Given the description of an element on the screen output the (x, y) to click on. 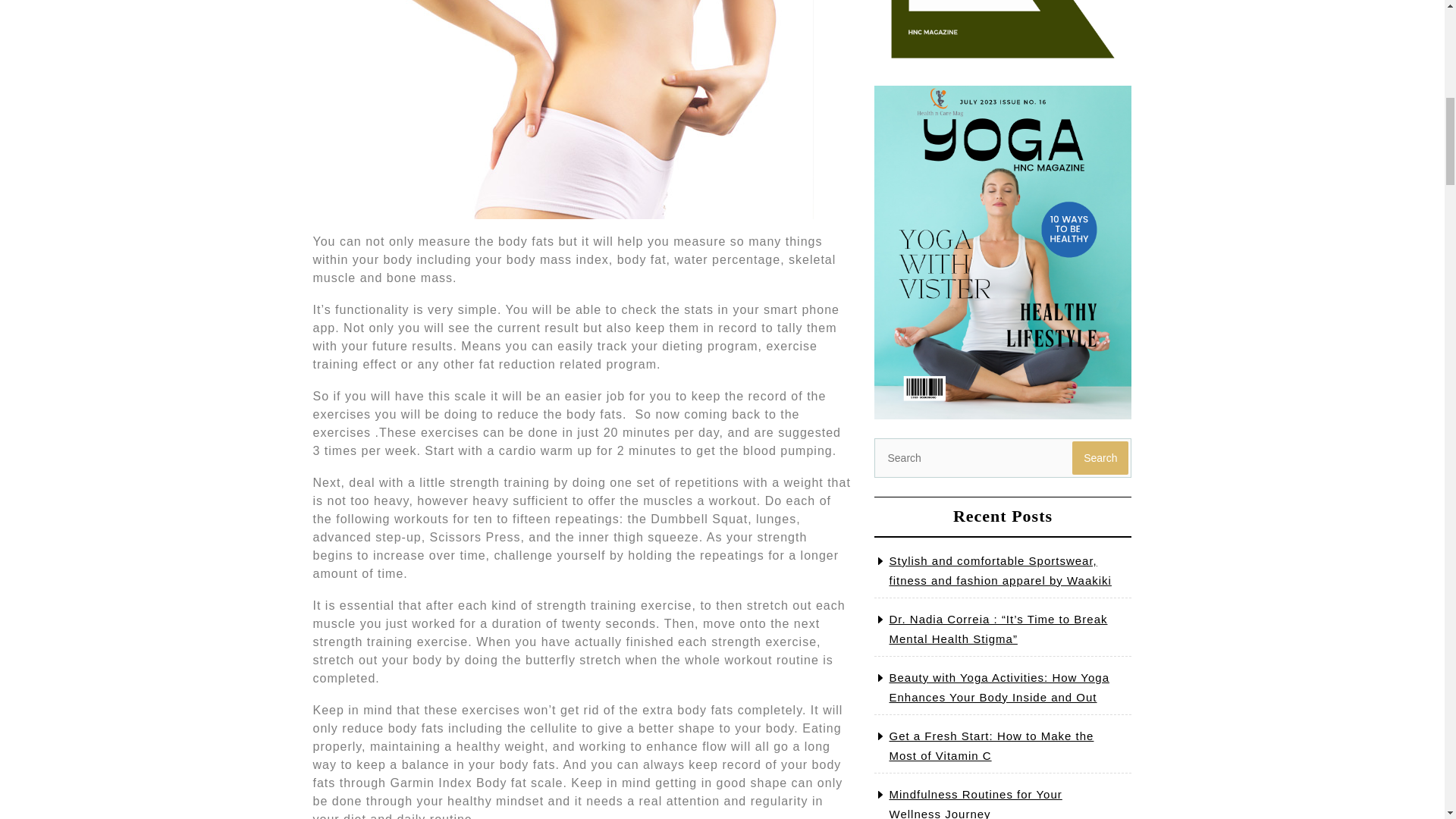
Our Magazine Aug Edition (1002, 33)
Search (1099, 458)
Mindfulness Routines for Your Wellness Journey (974, 803)
Get a Fresh Start: How to Make the Most of Vitamin C (990, 745)
